Given the description of an element on the screen output the (x, y) to click on. 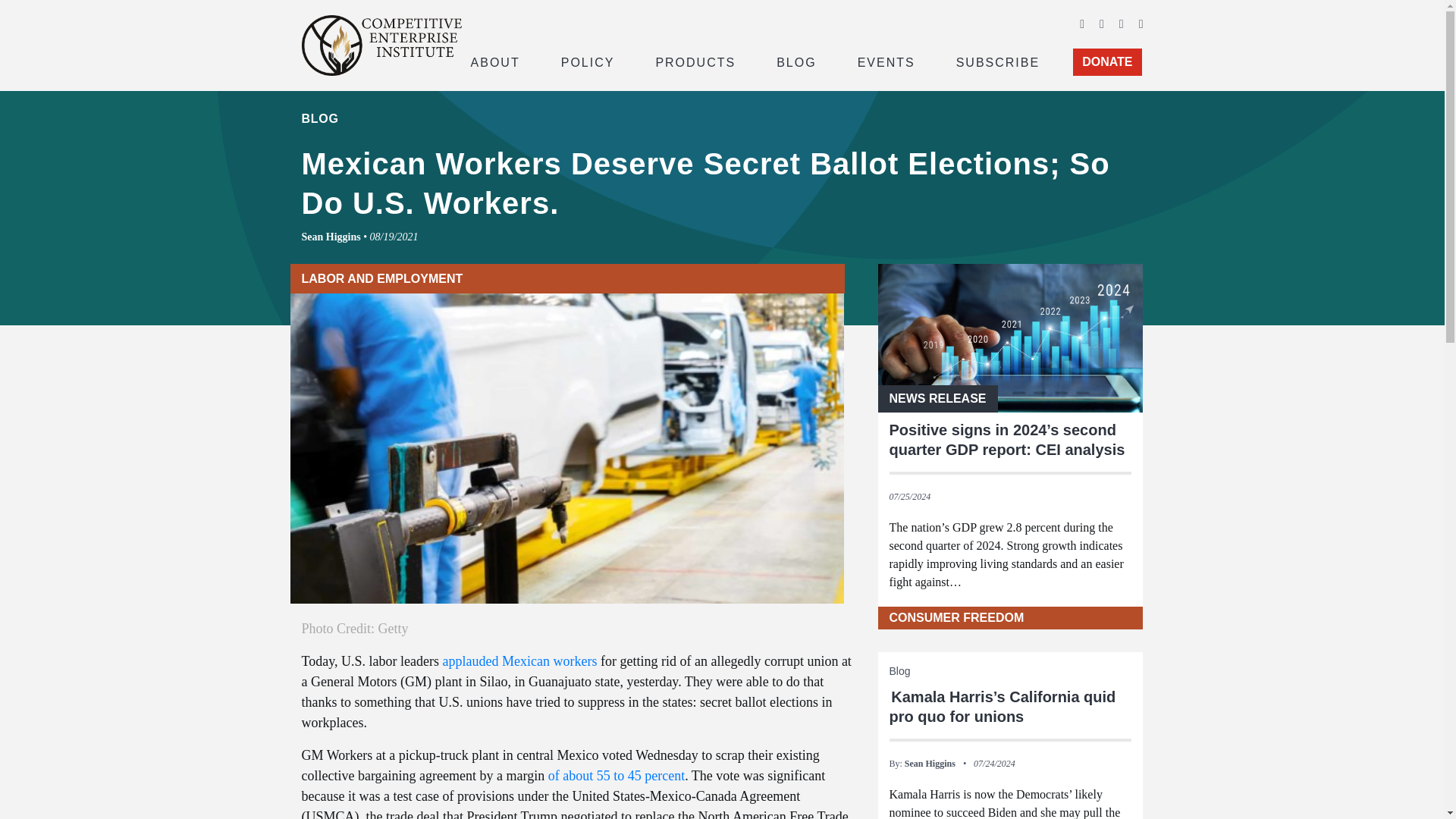
EVENTS (886, 61)
SUBSCRIBE (997, 61)
PRODUCTS (694, 61)
BLOG (796, 61)
POLICY (588, 61)
DONATE (1107, 62)
ABOUT (495, 61)
